Given the description of an element on the screen output the (x, y) to click on. 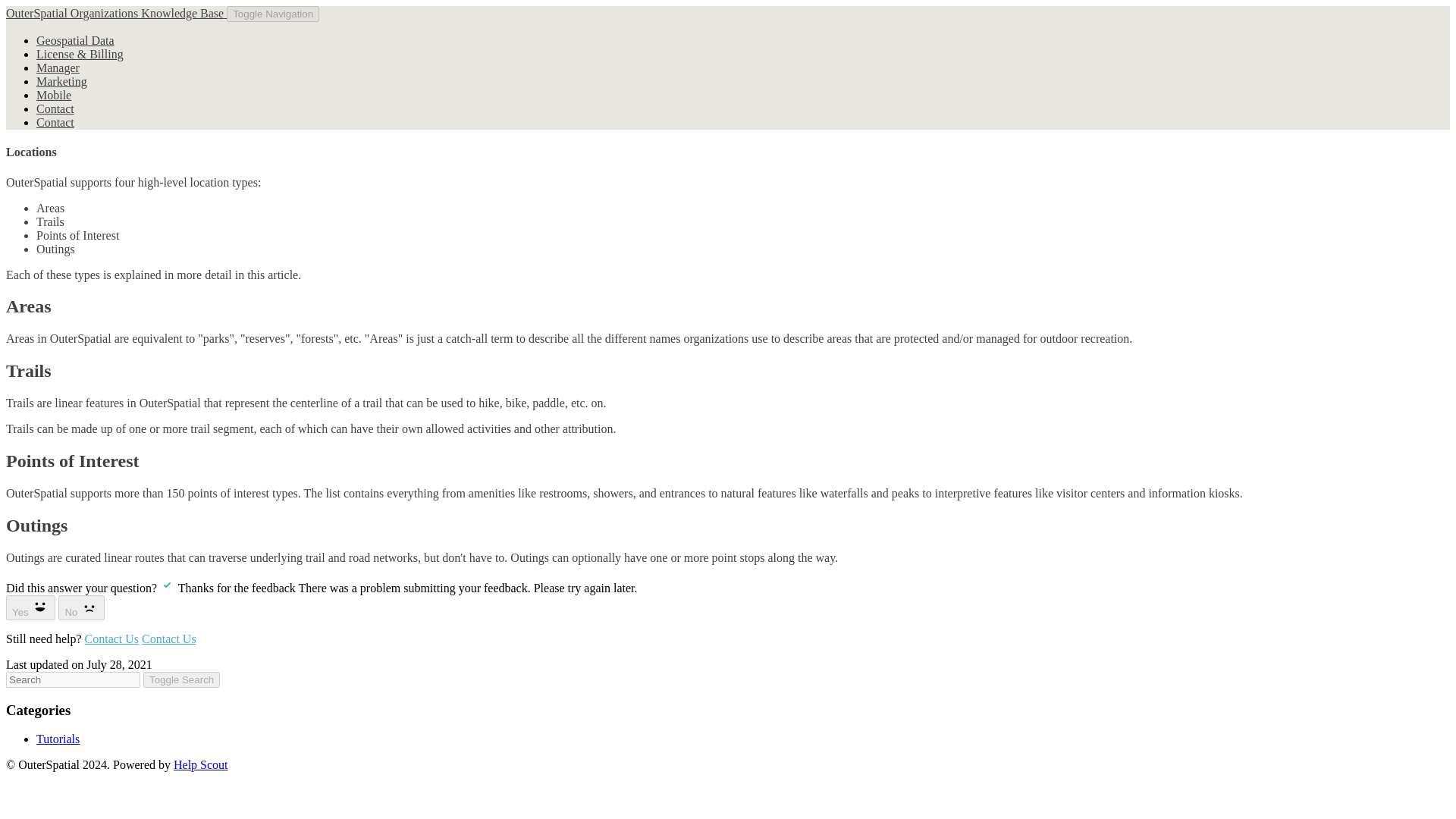
No (81, 607)
Yes (30, 607)
search-query (72, 679)
Mobile (53, 94)
Contact (55, 122)
OuterSpatial Organizations Knowledge Base (116, 12)
Toggle Search (180, 679)
Tutorials (58, 738)
Contact Us (111, 638)
Toggle Navigation (272, 13)
